Given the description of an element on the screen output the (x, y) to click on. 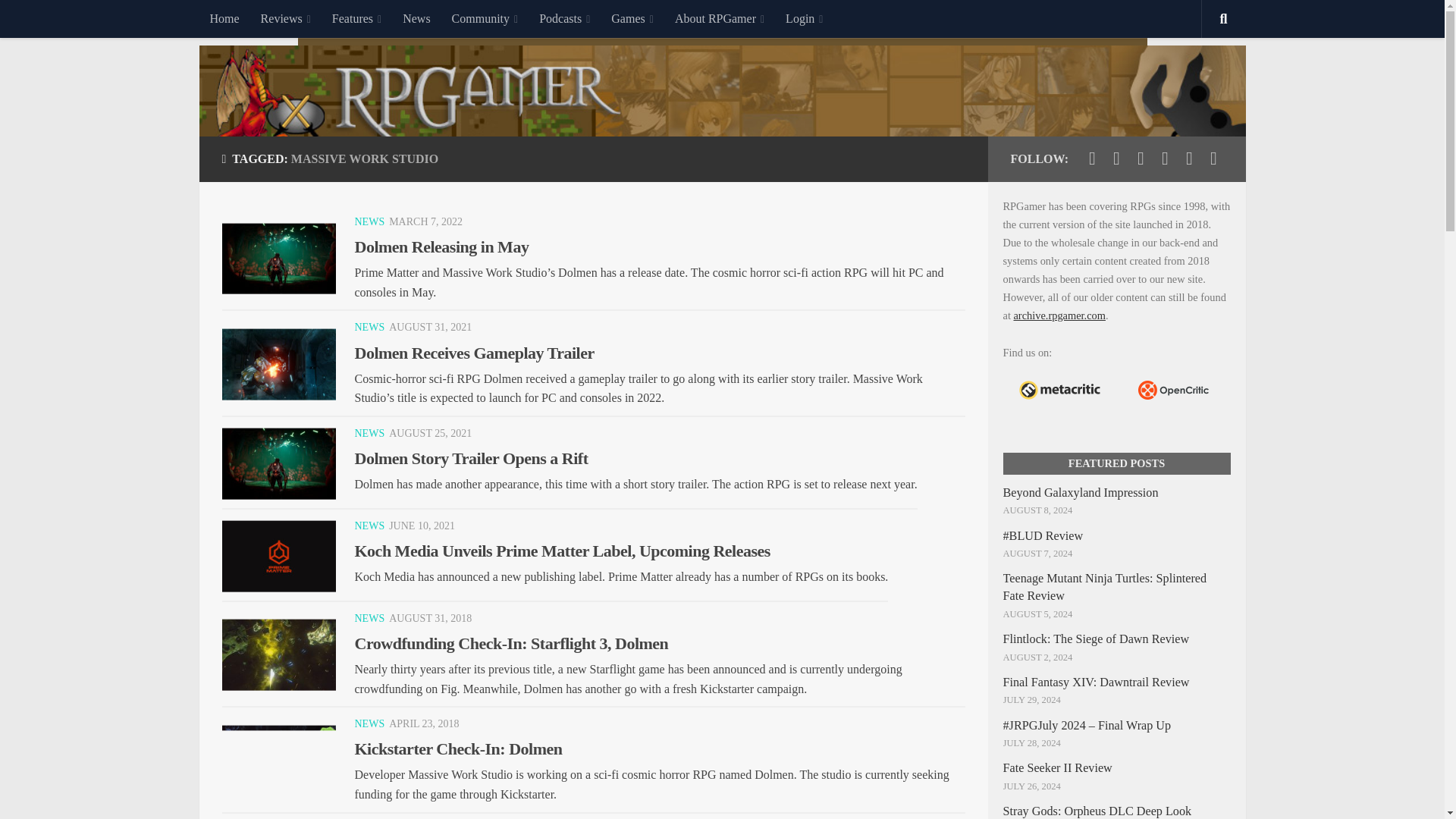
Follow us on Facebook (1115, 158)
Follow us on Discord (1188, 158)
Follow us on Twitch (1164, 158)
Skip to content (59, 20)
Follow us on Youtube (1140, 158)
Follow us on Rss (1213, 158)
Follow us on Twitter (1091, 158)
